Given the description of an element on the screen output the (x, y) to click on. 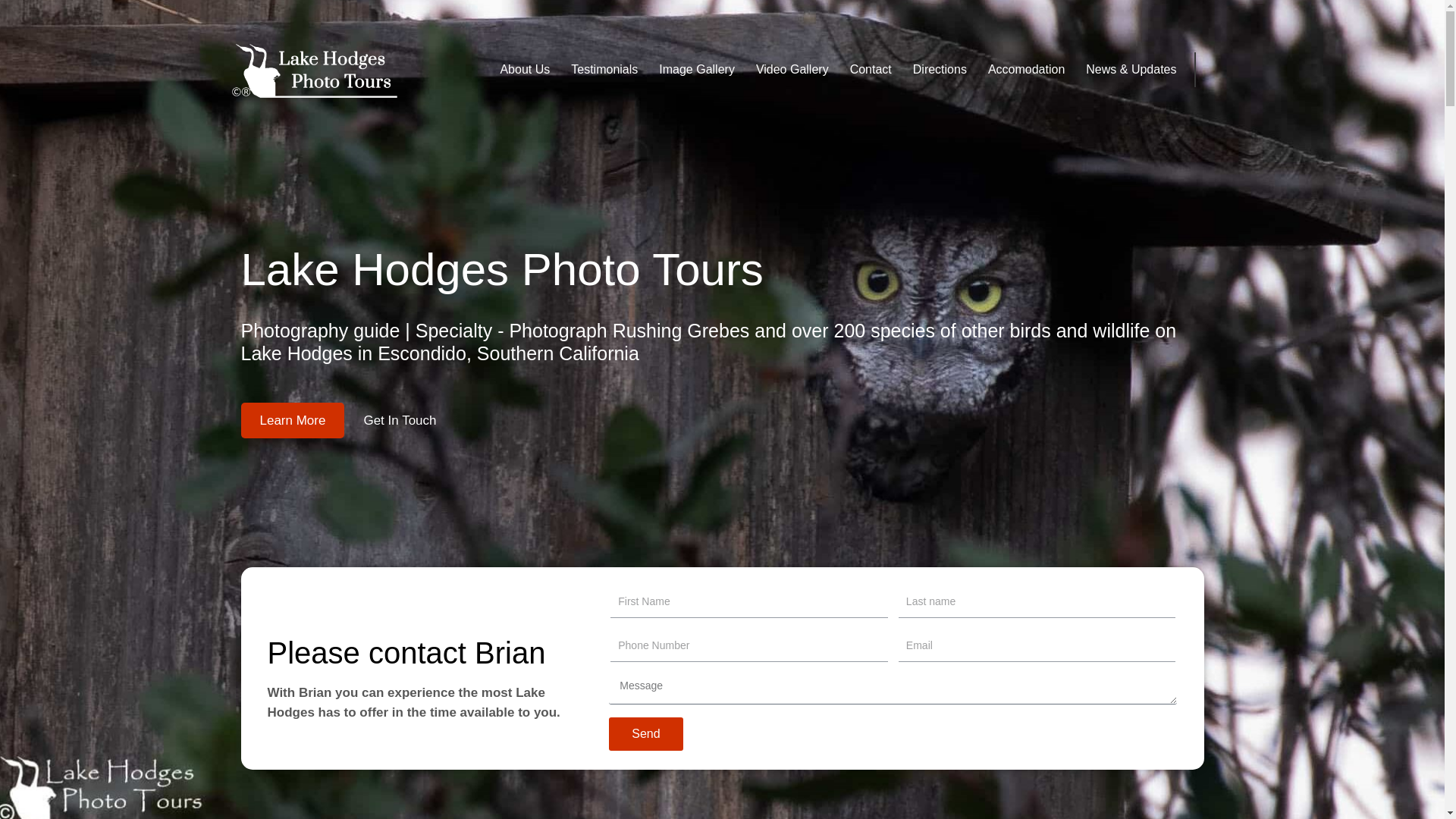
Accomodation (1025, 69)
Send (645, 734)
Testimonials (603, 69)
Learn More (293, 420)
Contact (871, 69)
Directions (939, 69)
Image Gallery (696, 69)
Get In Touch (398, 420)
Video Gallery (792, 69)
About Us (524, 69)
